Given the description of an element on the screen output the (x, y) to click on. 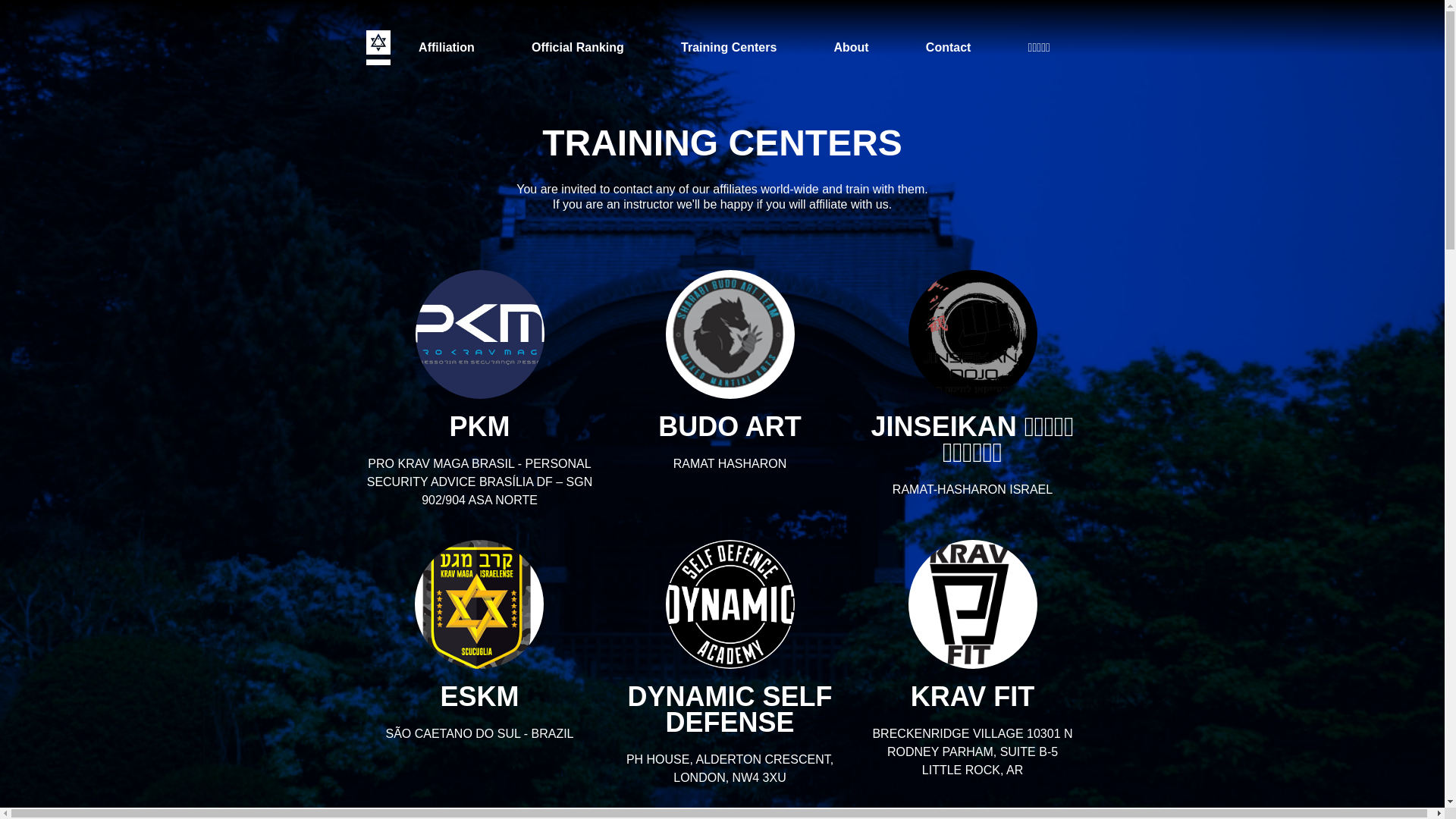
Affiliation Element type: text (446, 47)
Official Ranking Element type: text (577, 47)
BUDO ART
RAMAT HASHARON Element type: text (729, 371)
Training Centers Element type: text (728, 47)
About Element type: text (850, 47)
Contact Element type: text (948, 47)
